Given the description of an element on the screen output the (x, y) to click on. 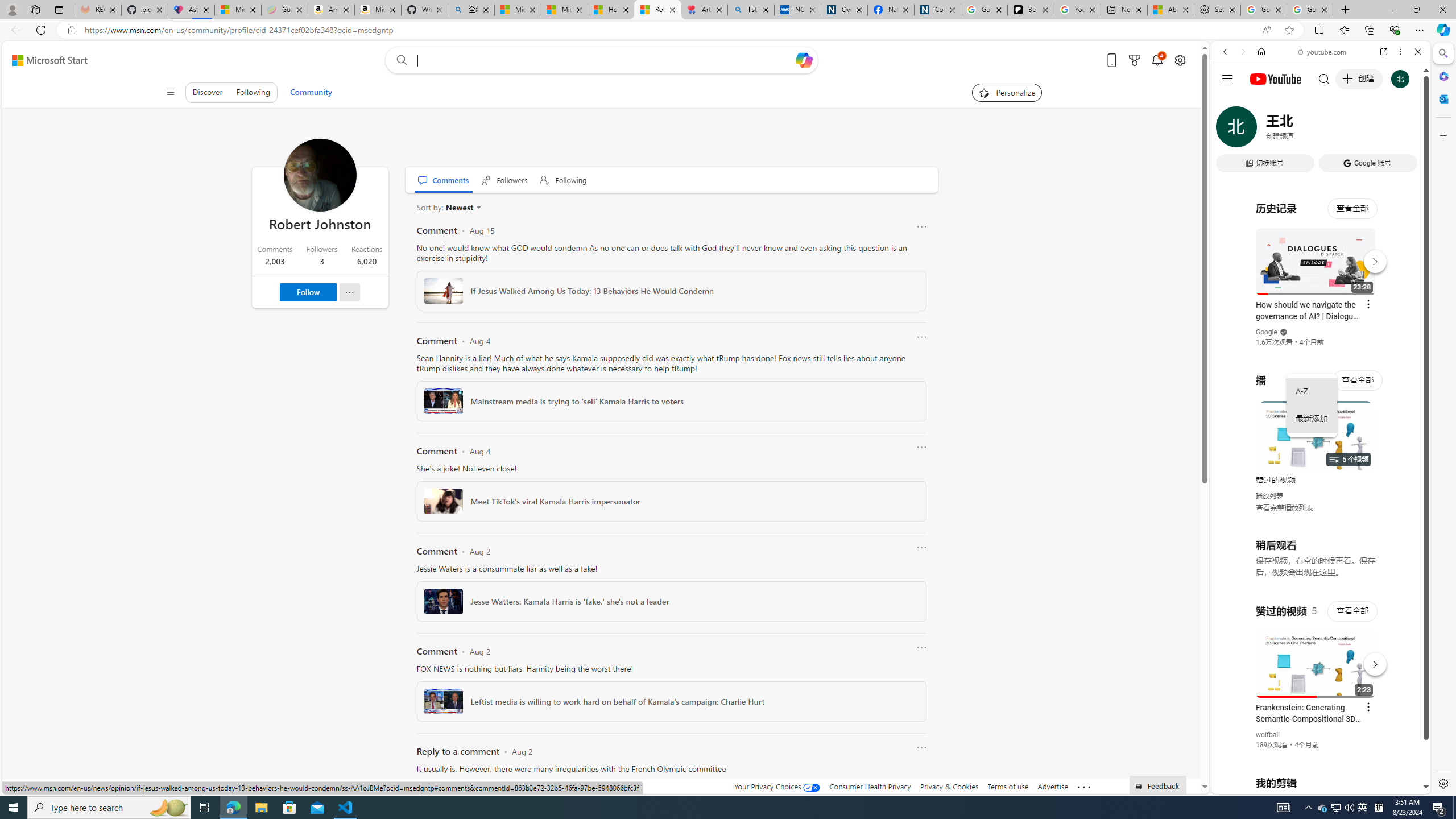
A-Z (1311, 391)
Your Privacy Choices (777, 785)
